Given the description of an element on the screen output the (x, y) to click on. 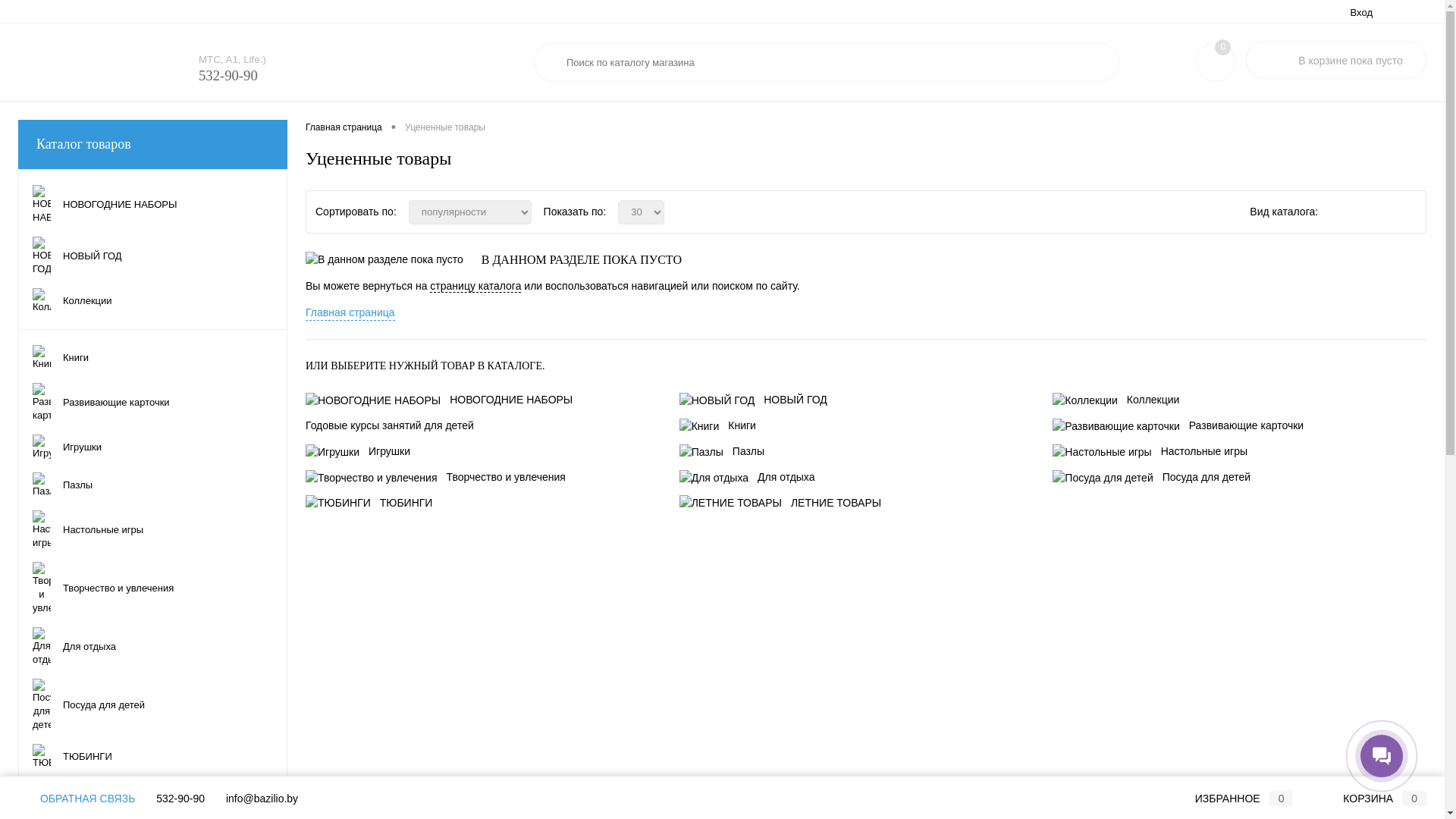
info@bazilio.by Element type: text (261, 798)
0 Element type: text (1222, 47)
532-90-90 Element type: text (227, 76)
532-90-90 Element type: text (180, 798)
Y Element type: text (1098, 62)
